Given the description of an element on the screen output the (x, y) to click on. 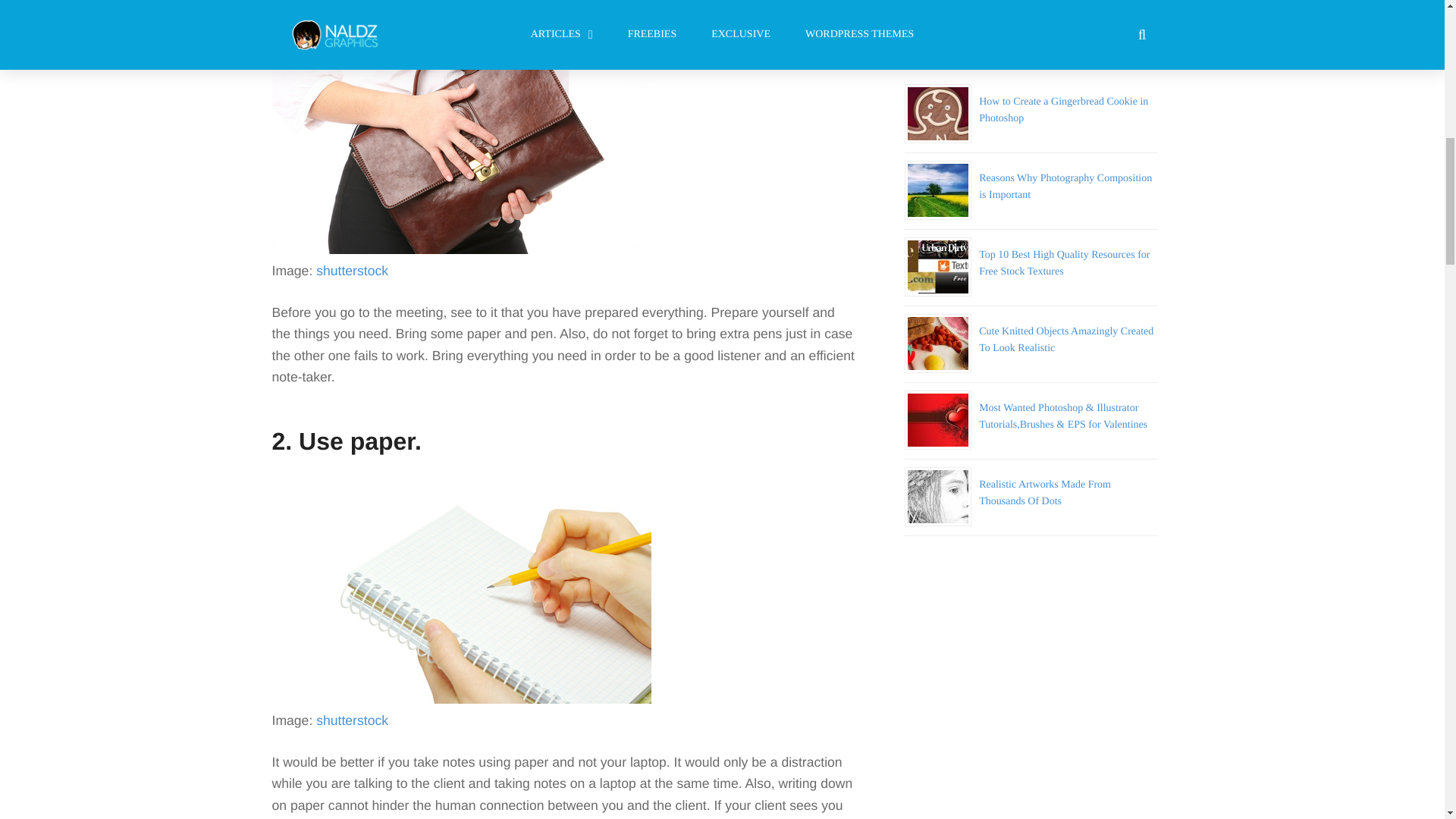
Permalink to How to Create a Gingerbread Cookie in Photoshop (1063, 110)
Permalink to Realistic Artworks Made From Thousands Of Dots (1044, 492)
